Given the description of an element on the screen output the (x, y) to click on. 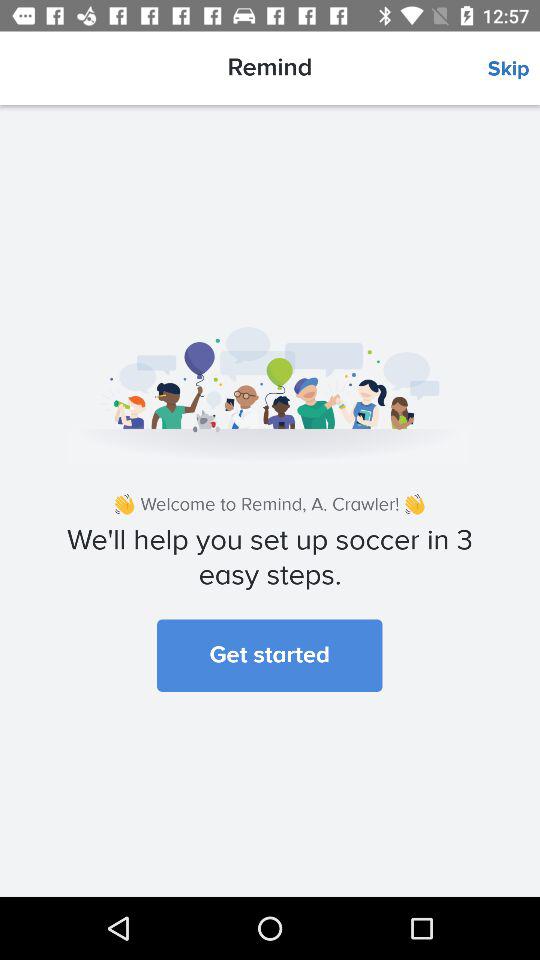
press the item above the welcome to remind (513, 69)
